Given the description of an element on the screen output the (x, y) to click on. 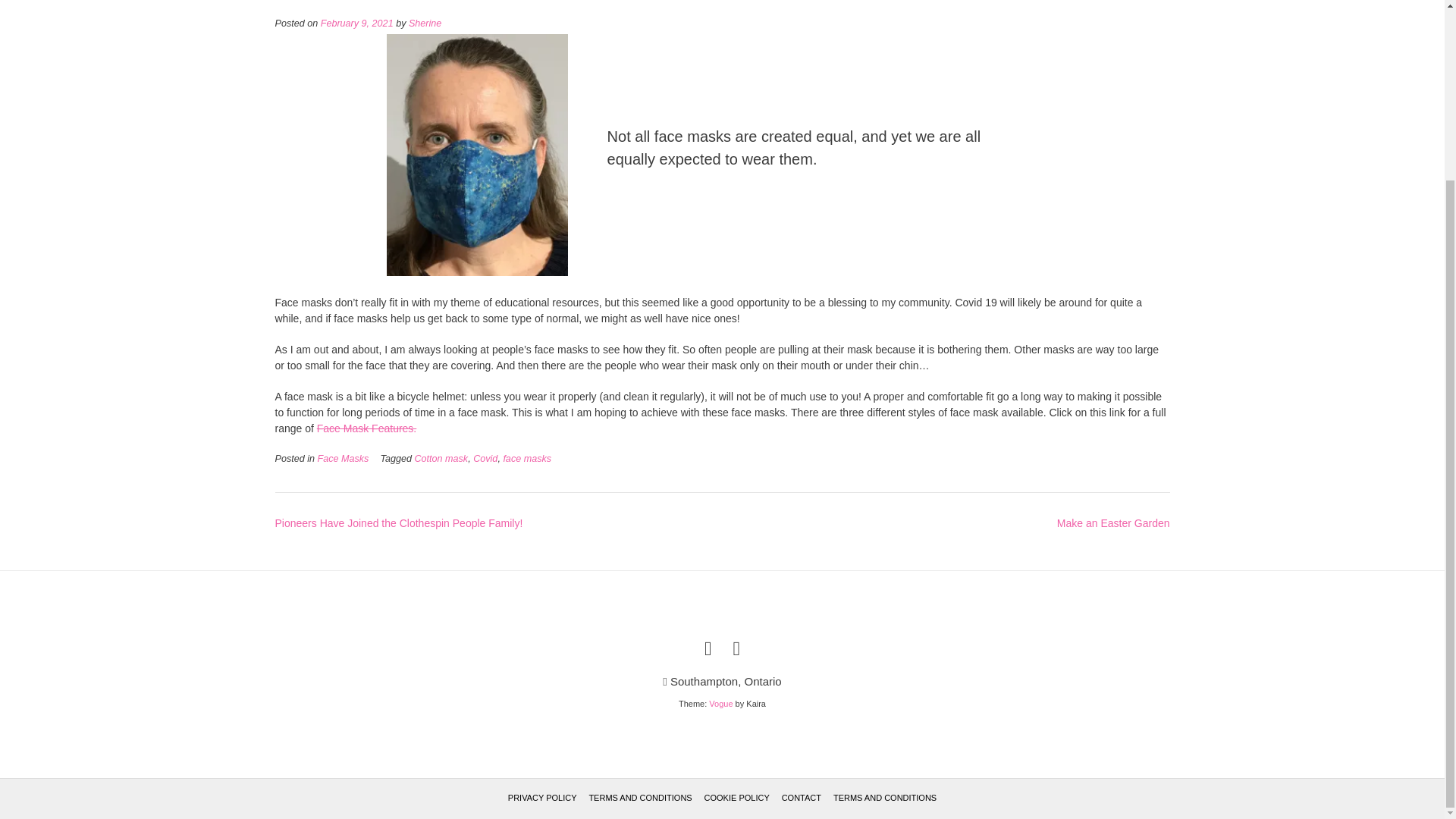
Face Mask Features (366, 428)
Face Masks (343, 458)
February 9, 2021 (356, 23)
Cotton mask (440, 458)
Covid (485, 458)
Face Mask Features. (366, 428)
Sherine (425, 23)
